Given the description of an element on the screen output the (x, y) to click on. 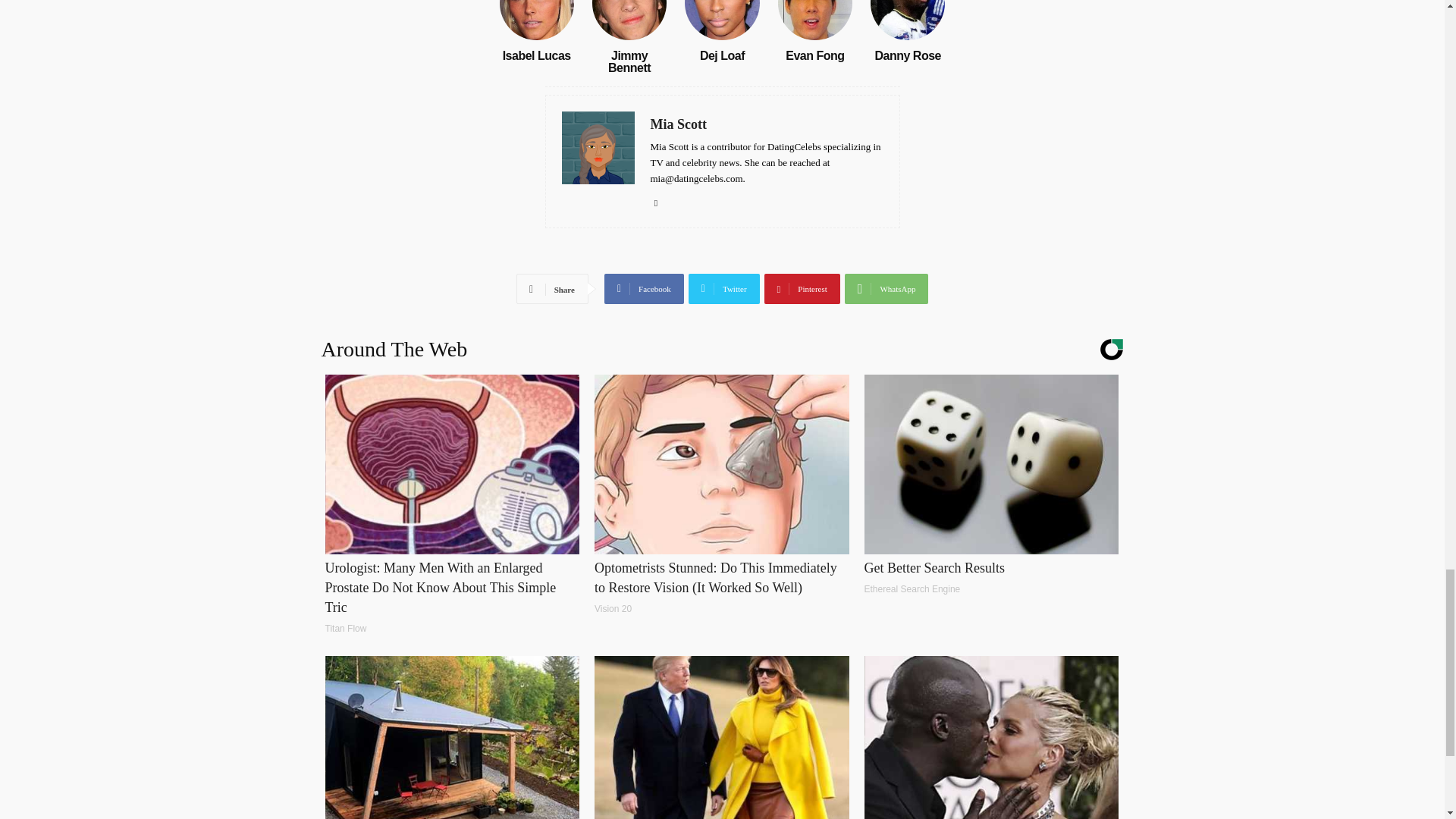
Pinterest (802, 288)
Isabel Lucas (536, 55)
Twitter (724, 288)
Mia Scott (766, 124)
Dej Loaf (721, 19)
Jimmy Bennett (629, 19)
Isabel Lucas (536, 19)
Danny Rose (907, 55)
Evan Fong (814, 19)
Isabel Lucas (536, 55)
Facebook (644, 288)
Evan Fong (815, 55)
Dej Loaf (722, 55)
Dej Loaf (722, 55)
Jimmy Bennett (629, 61)
